Given the description of an element on the screen output the (x, y) to click on. 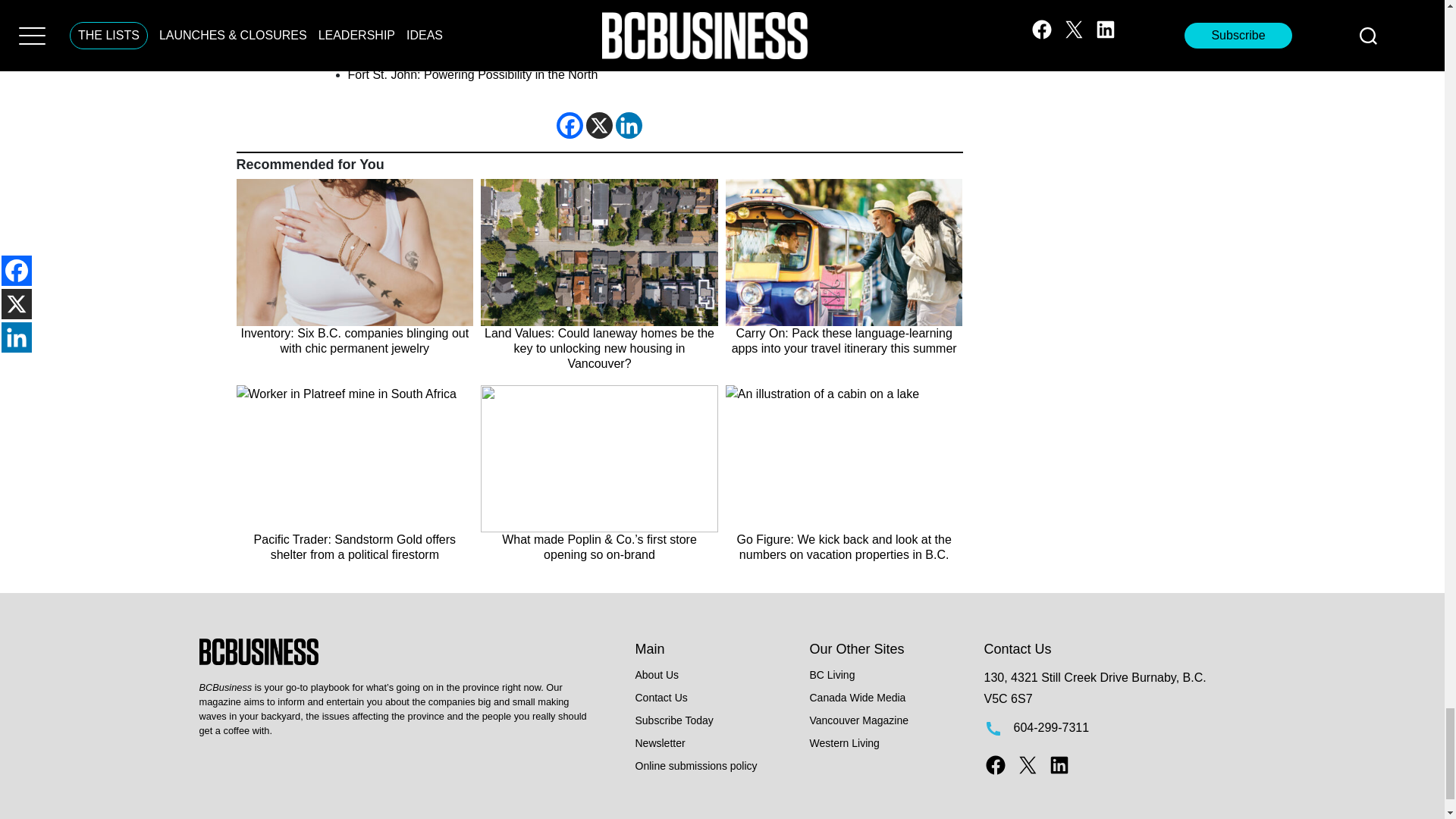
Facebook (569, 125)
X (599, 125)
Linkedin (628, 125)
